Given the description of an element on the screen output the (x, y) to click on. 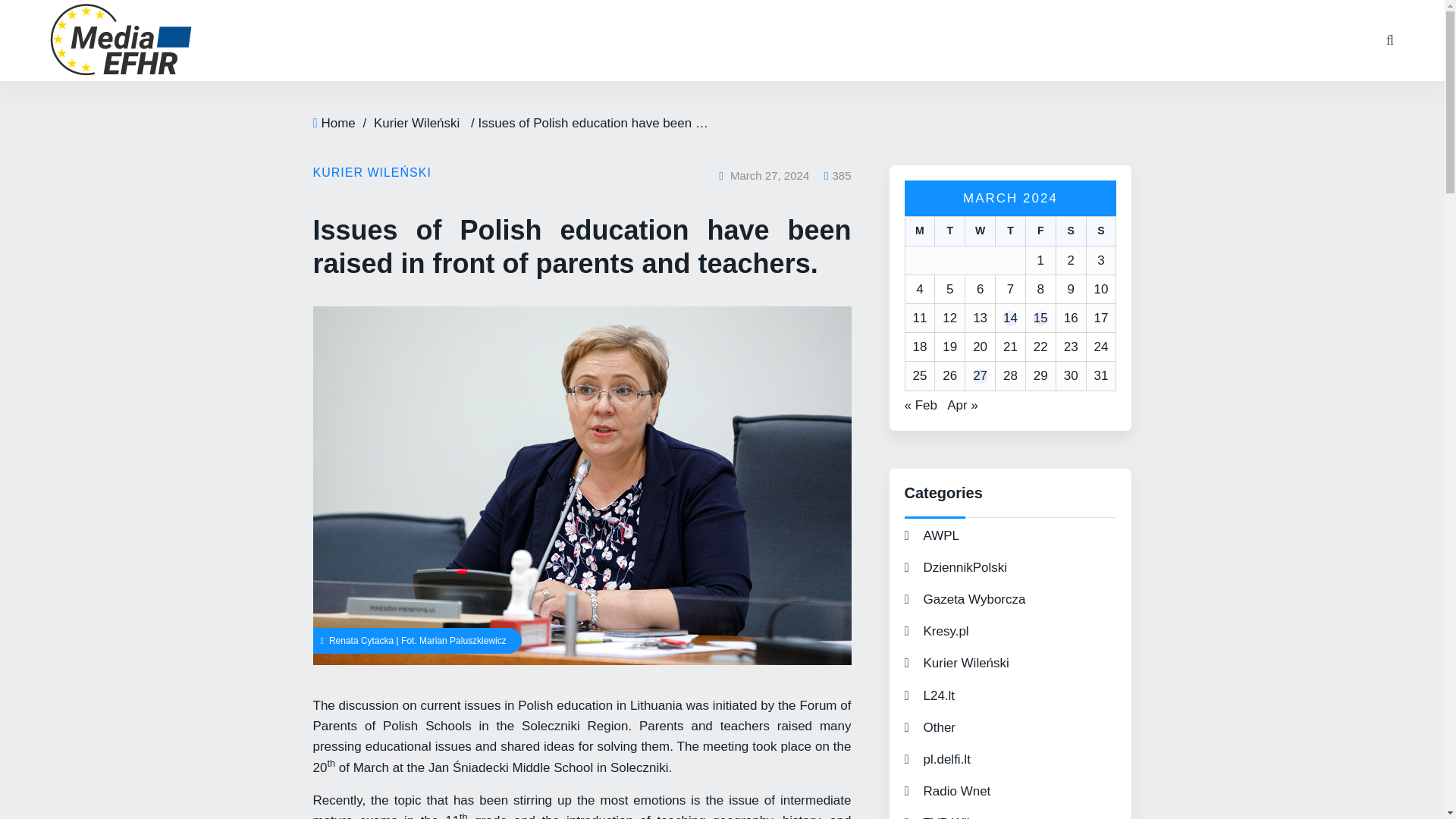
Thursday (1009, 230)
Gazeta Wyborcza (964, 598)
14 (1010, 317)
15 (1040, 317)
Home (337, 123)
Wednesday (978, 230)
Monday (919, 230)
Sunday (1101, 230)
Saturday (1070, 230)
Friday (1040, 230)
